Given the description of an element on the screen output the (x, y) to click on. 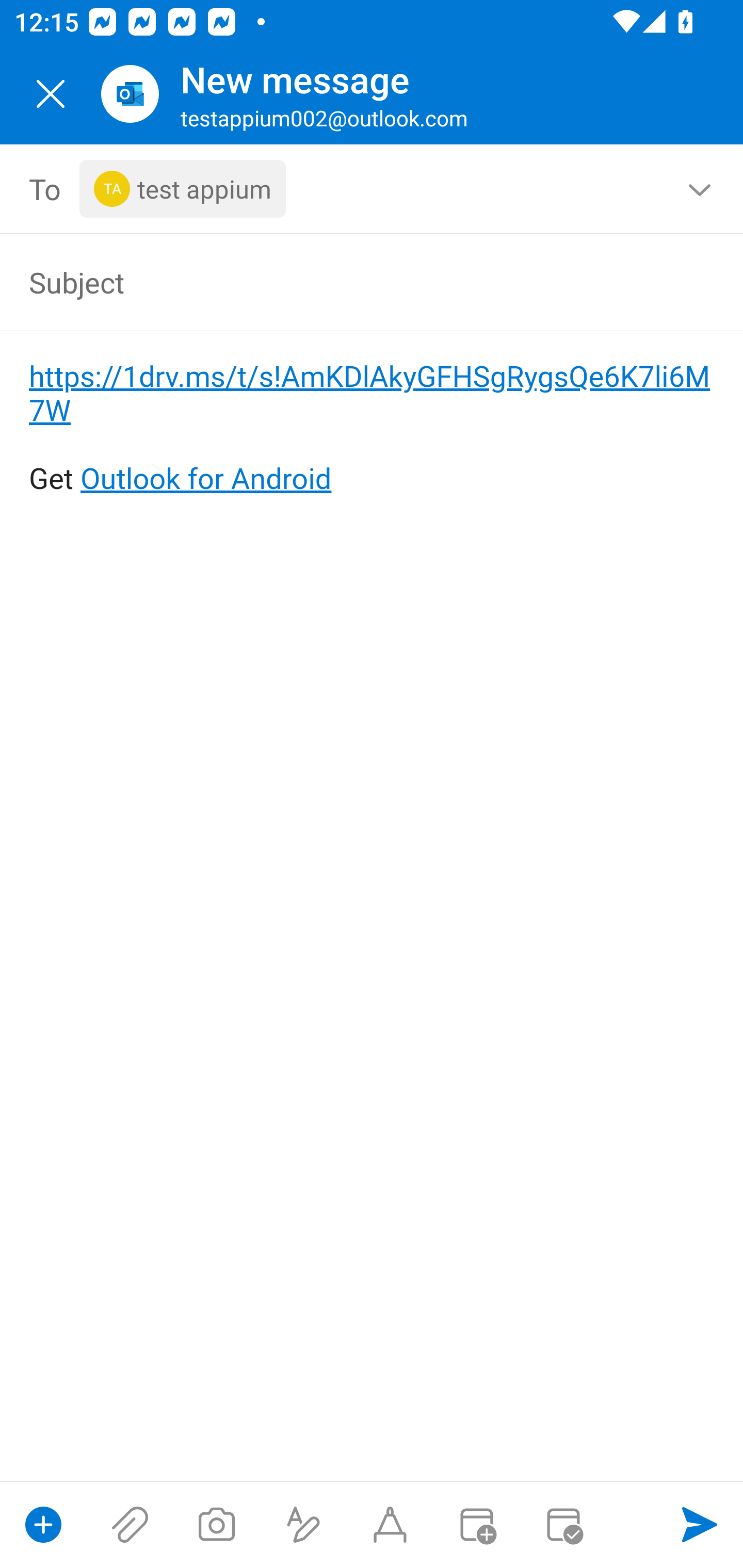
Close (50, 93)
Subject (342, 281)
Show compose options (43, 1524)
Attach files (129, 1524)
Take a photo (216, 1524)
Show formatting options (303, 1524)
Start Ink compose (389, 1524)
Convert to event (476, 1524)
Send availability (563, 1524)
Send (699, 1524)
